Given the description of an element on the screen output the (x, y) to click on. 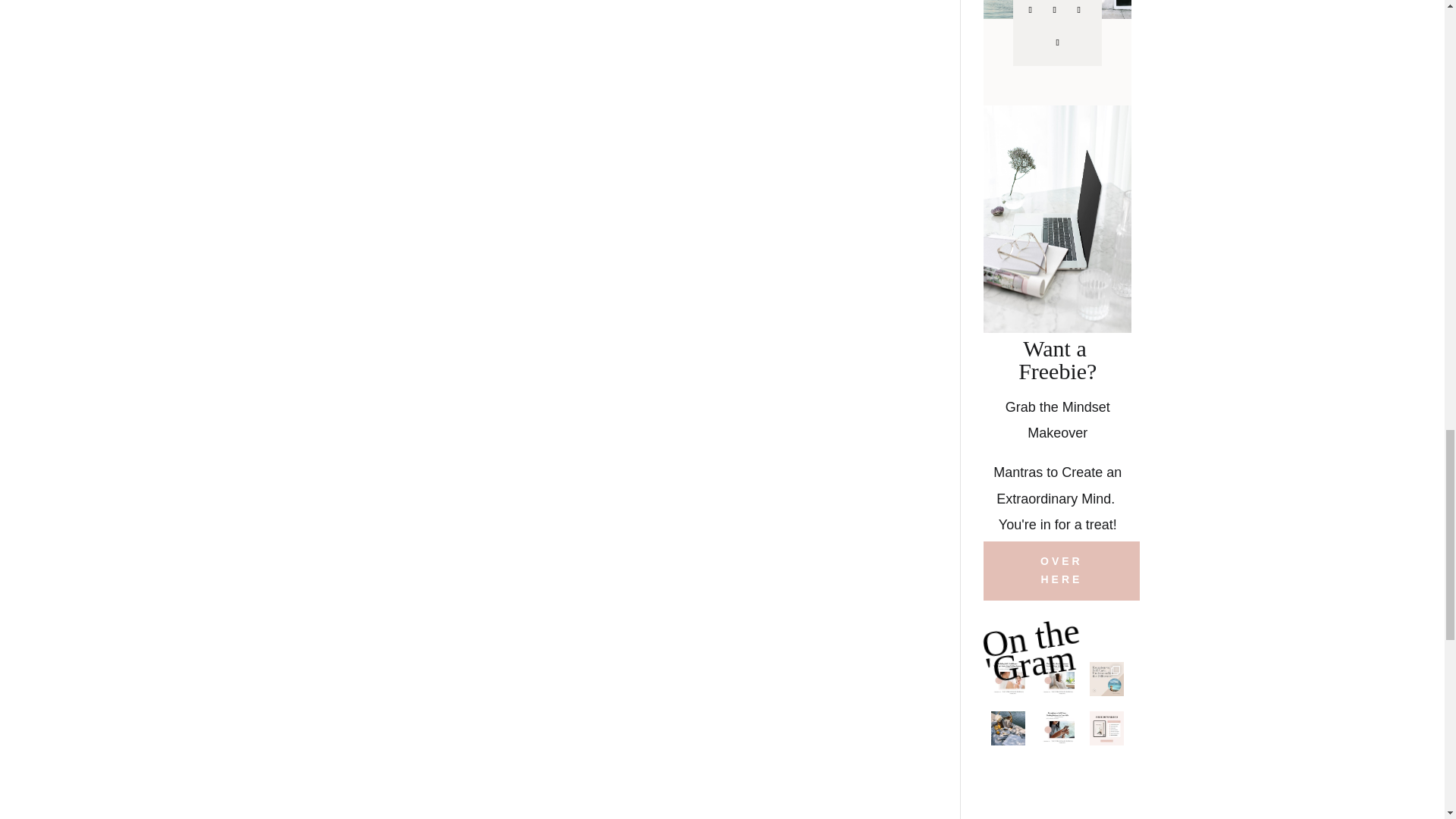
OVER HERE (1062, 570)
Follow on Facebook (1030, 9)
Follow on Youtube (1078, 9)
Follow on LinkedIn (1057, 42)
Follow on Instagram (1054, 9)
